Given the description of an element on the screen output the (x, y) to click on. 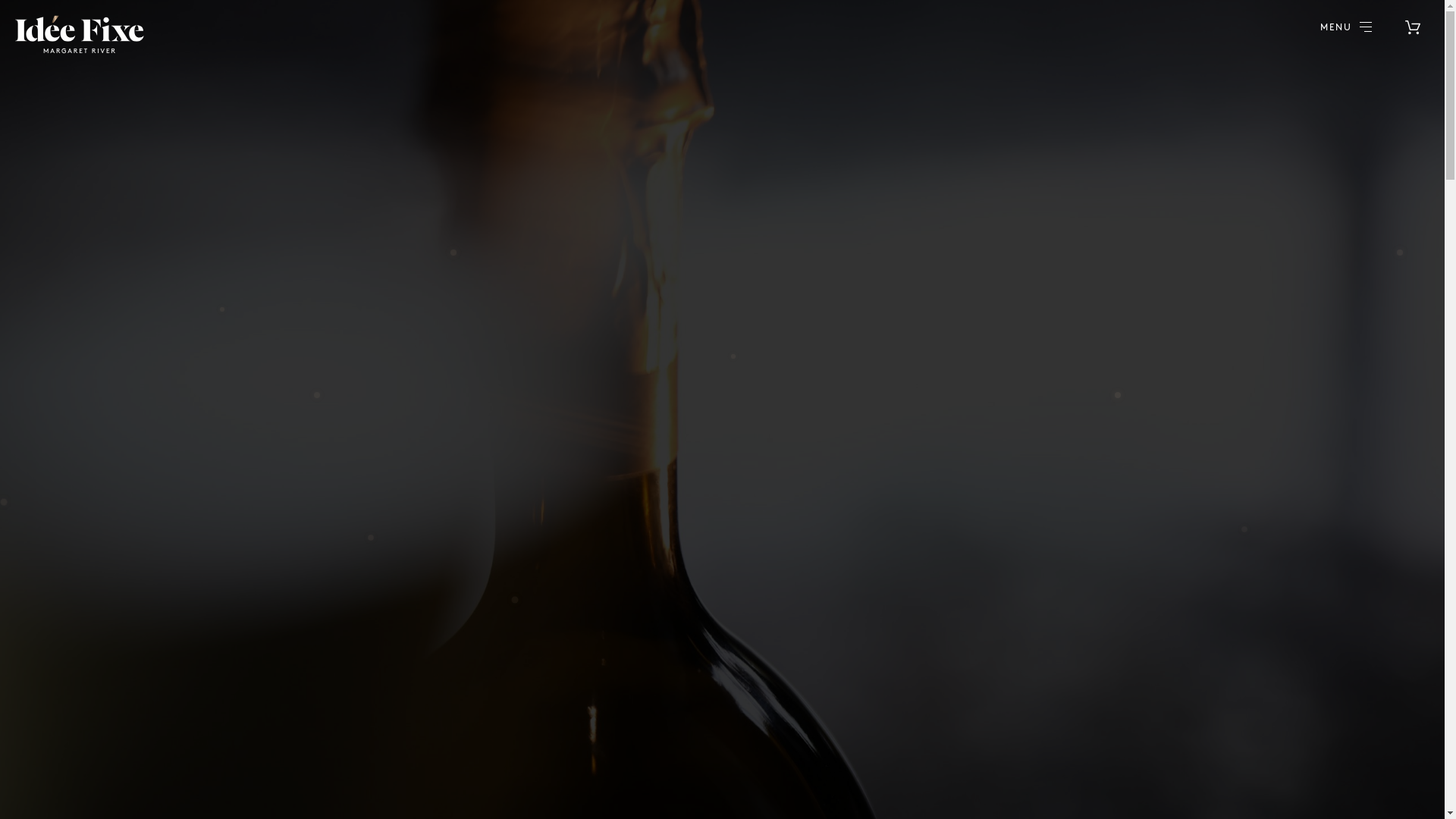
Group Element type: text (79, 36)
  Element type: text (1412, 26)
